Given the description of an element on the screen output the (x, y) to click on. 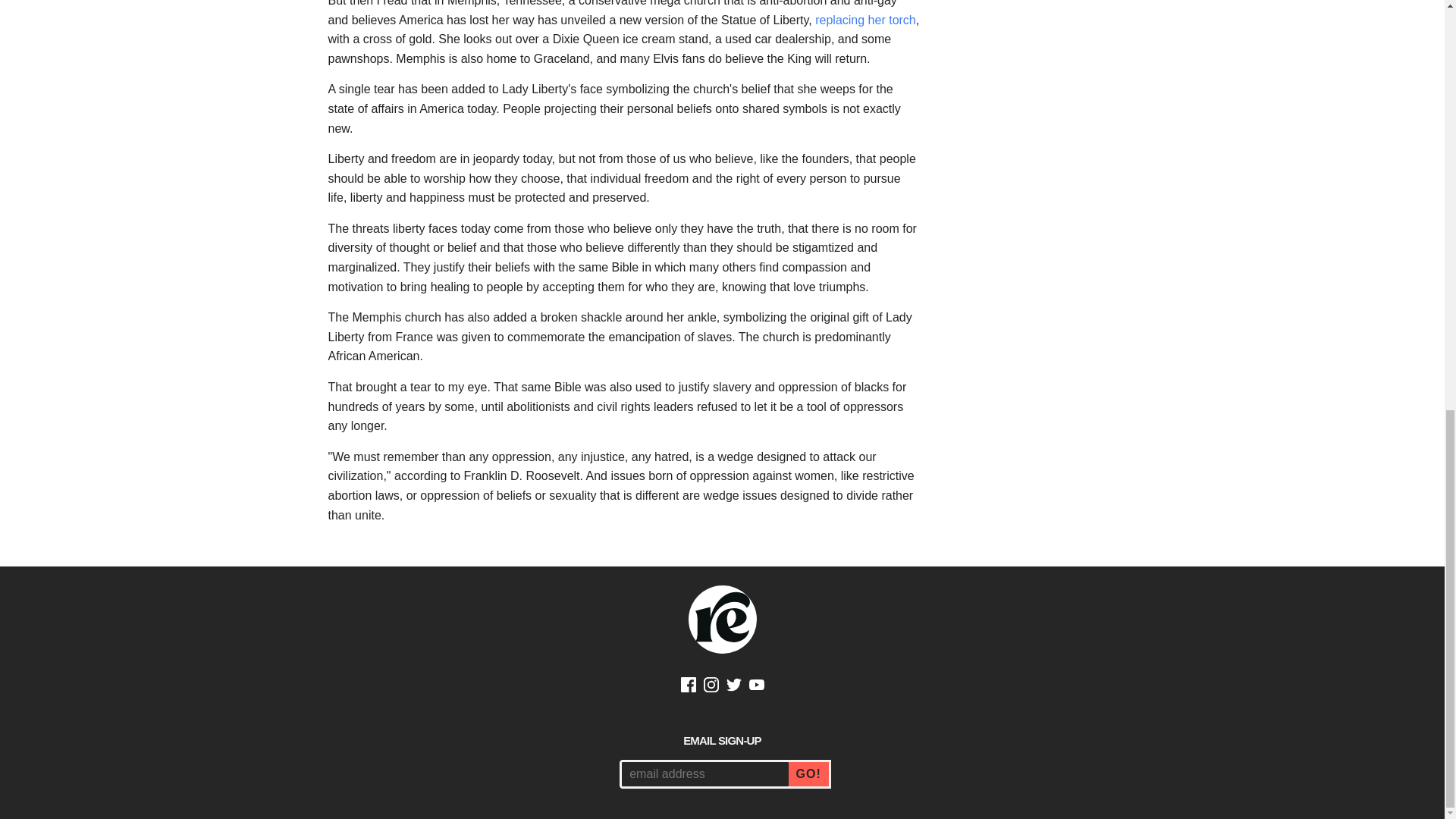
replacing her torch (865, 19)
TWITTER (733, 686)
GO! (810, 774)
FACEBOOK (688, 686)
YOUTUBE (756, 686)
INSTAGRAM (711, 686)
GO! (810, 774)
